Given the description of an element on the screen output the (x, y) to click on. 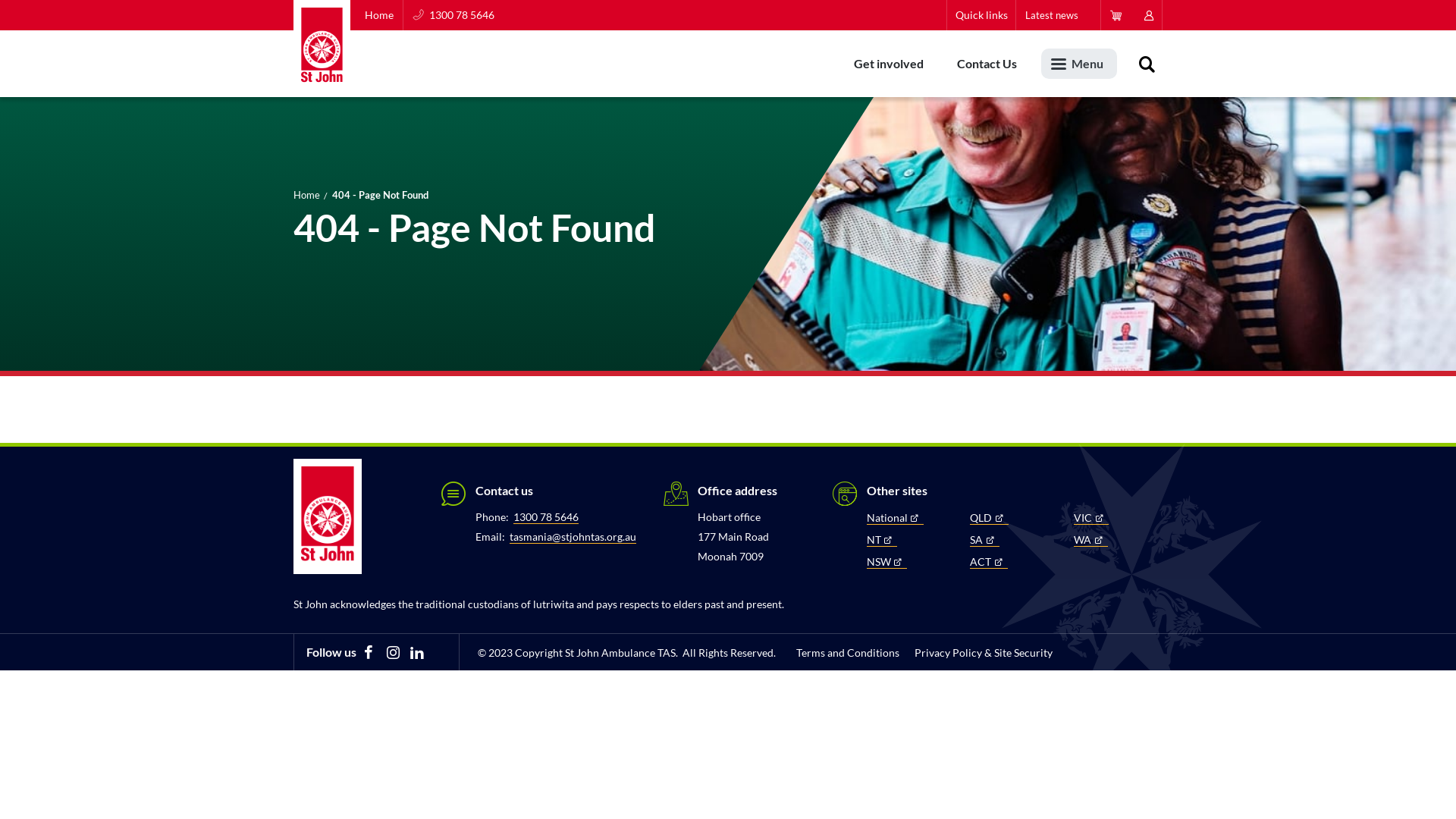
LinkedIn Element type: text (416, 652)
Instagram Element type: text (392, 652)
Get involved Element type: text (888, 63)
Quick links Element type: text (981, 15)
Contact Us Element type: text (986, 63)
QLD Element type: text (988, 517)
Facebook Element type: text (368, 652)
ACT Element type: text (988, 561)
VIC Element type: text (1090, 517)
Search Element type: text (1146, 63)
Terms and Conditions Element type: text (847, 652)
404 - Page Not Found Element type: text (380, 194)
Home Element type: text (376, 15)
1300 78 5646 Element type: text (545, 517)
Latest news Element type: text (1051, 15)
Privacy Policy & Site Security Element type: text (983, 652)
WA Element type: text (1090, 539)
SA Element type: text (984, 539)
NSW Element type: text (886, 561)
NT Element type: text (881, 539)
tasmania@stjohntas.org.au Element type: text (572, 536)
Menu Element type: text (1079, 63)
1300 78 5646 Element type: text (453, 15)
Search Element type: text (943, 147)
National Element type: text (894, 517)
